Given the description of an element on the screen output the (x, y) to click on. 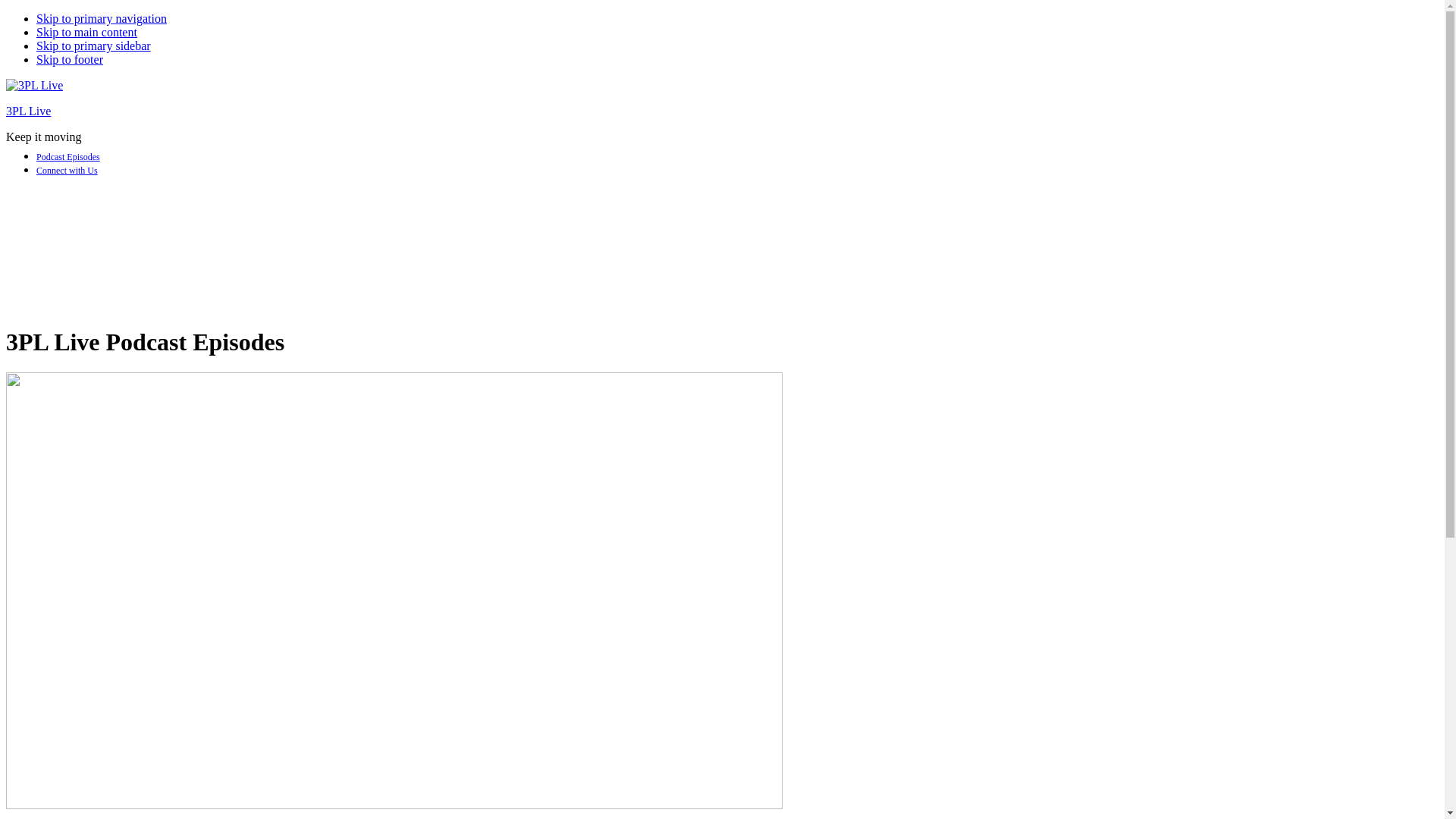
Podcast Episodes Element type: text (68, 156)
Skip to footer Element type: text (69, 59)
Skip to main content Element type: text (86, 31)
Connect with Us Element type: text (66, 170)
3PL Live Element type: text (28, 110)
Skip to primary sidebar Element type: text (93, 45)
Skip to primary navigation Element type: text (101, 18)
